Given the description of an element on the screen output the (x, y) to click on. 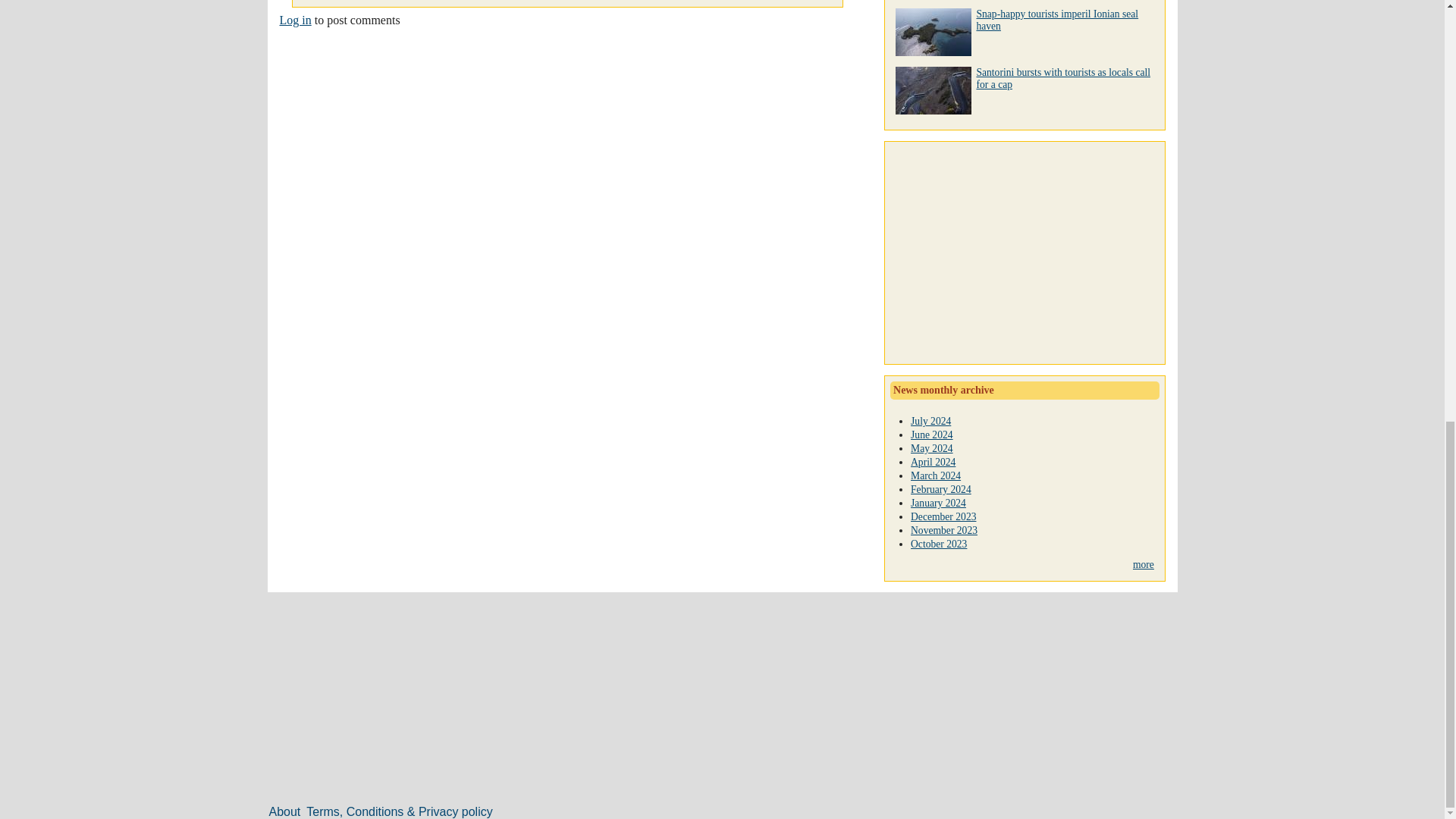
Log in (295, 19)
